Given the description of an element on the screen output the (x, y) to click on. 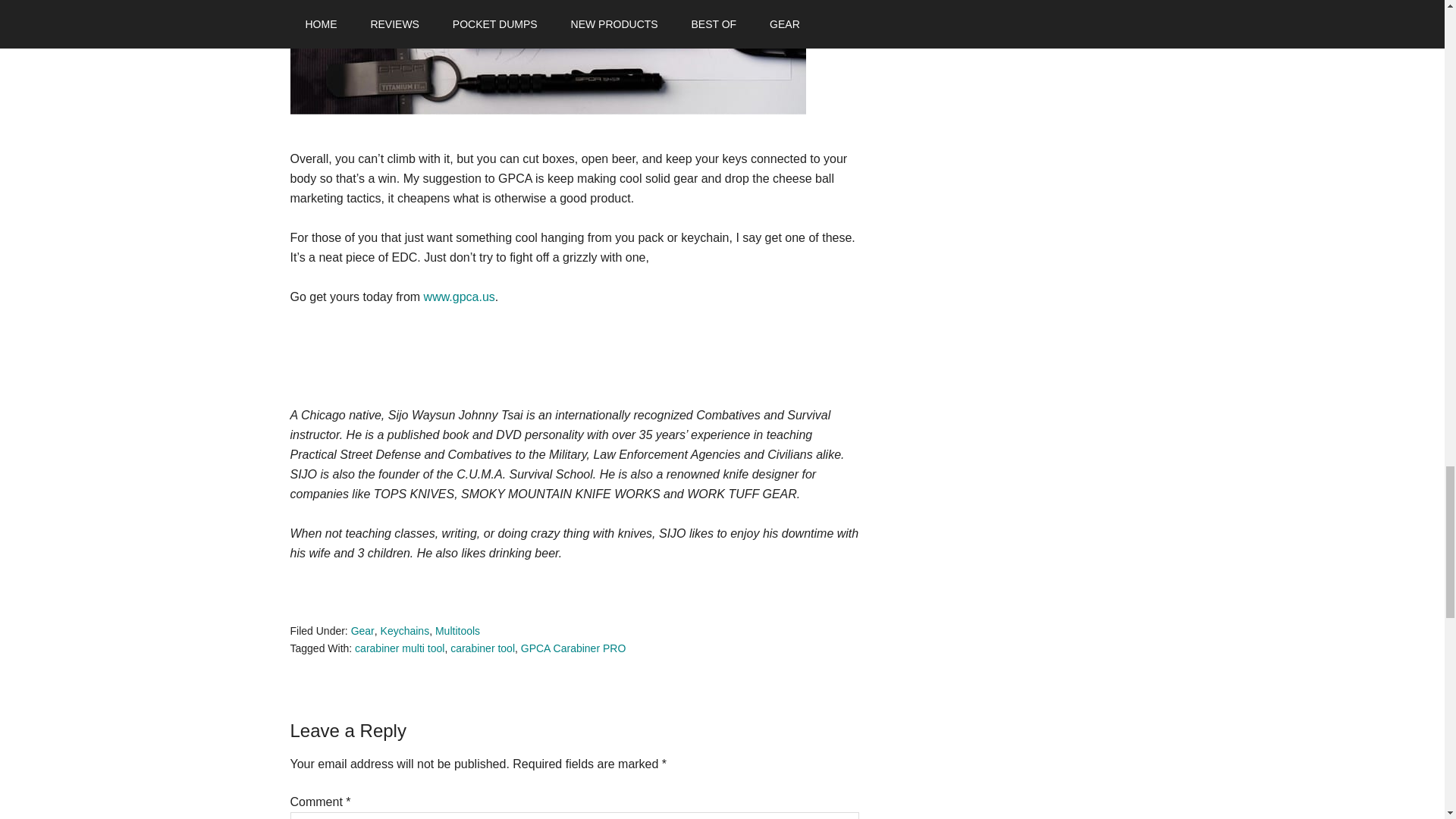
Keychains (404, 630)
carabiner multi tool (399, 648)
Gear (362, 630)
Multitools (457, 630)
www.gpca.us (459, 296)
carabiner tool (482, 648)
GPCA Carabiner PRO (573, 648)
